Given the description of an element on the screen output the (x, y) to click on. 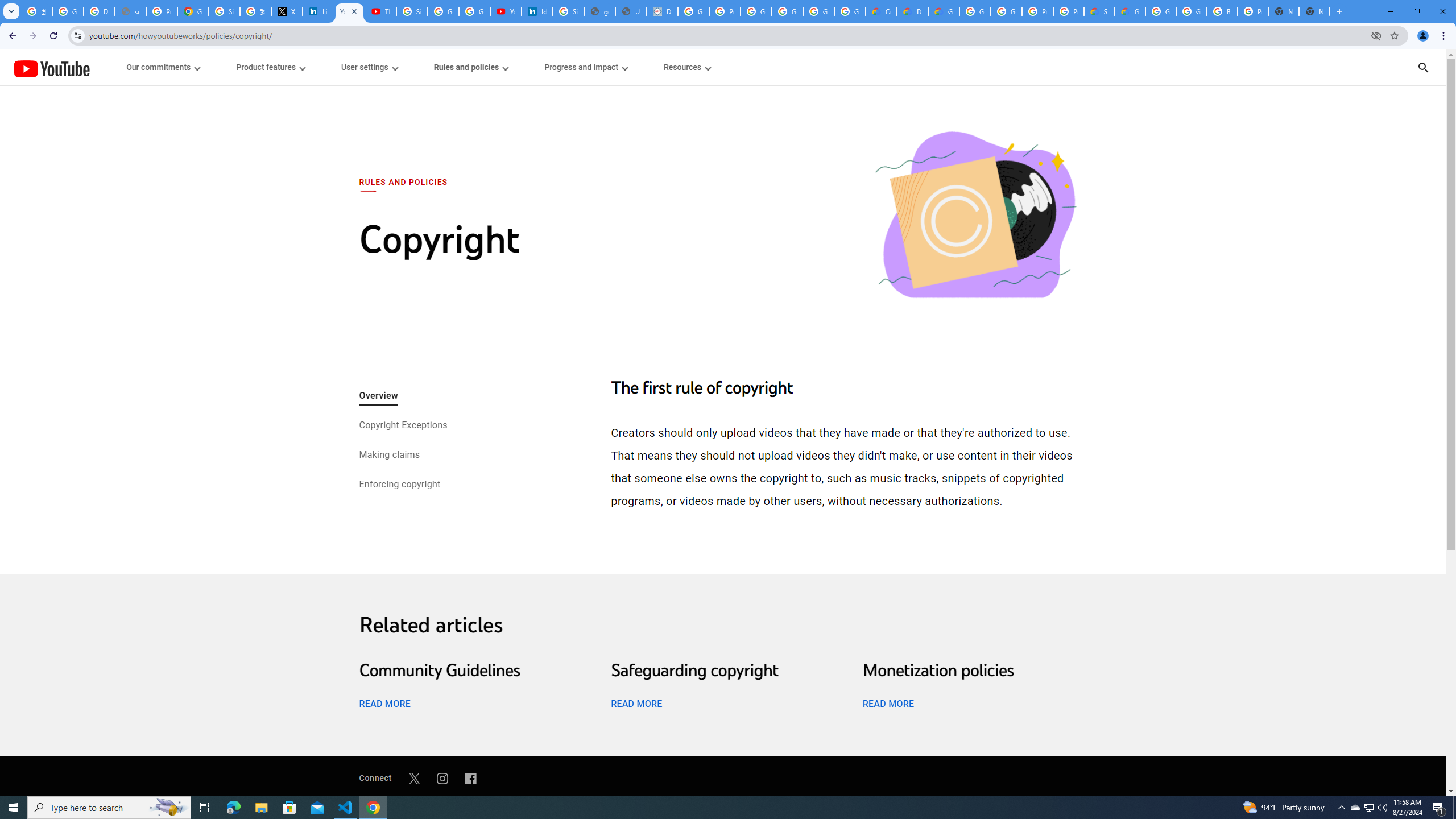
Data Privacy Framework (662, 11)
Google Workspace - Specific Terms (849, 11)
Gemini for Business and Developers | Google Cloud (943, 11)
READ MORE (887, 703)
Our commitments menupopup (163, 67)
New Tab (1314, 11)
Product features menupopup (269, 67)
